Given the description of an element on the screen output the (x, y) to click on. 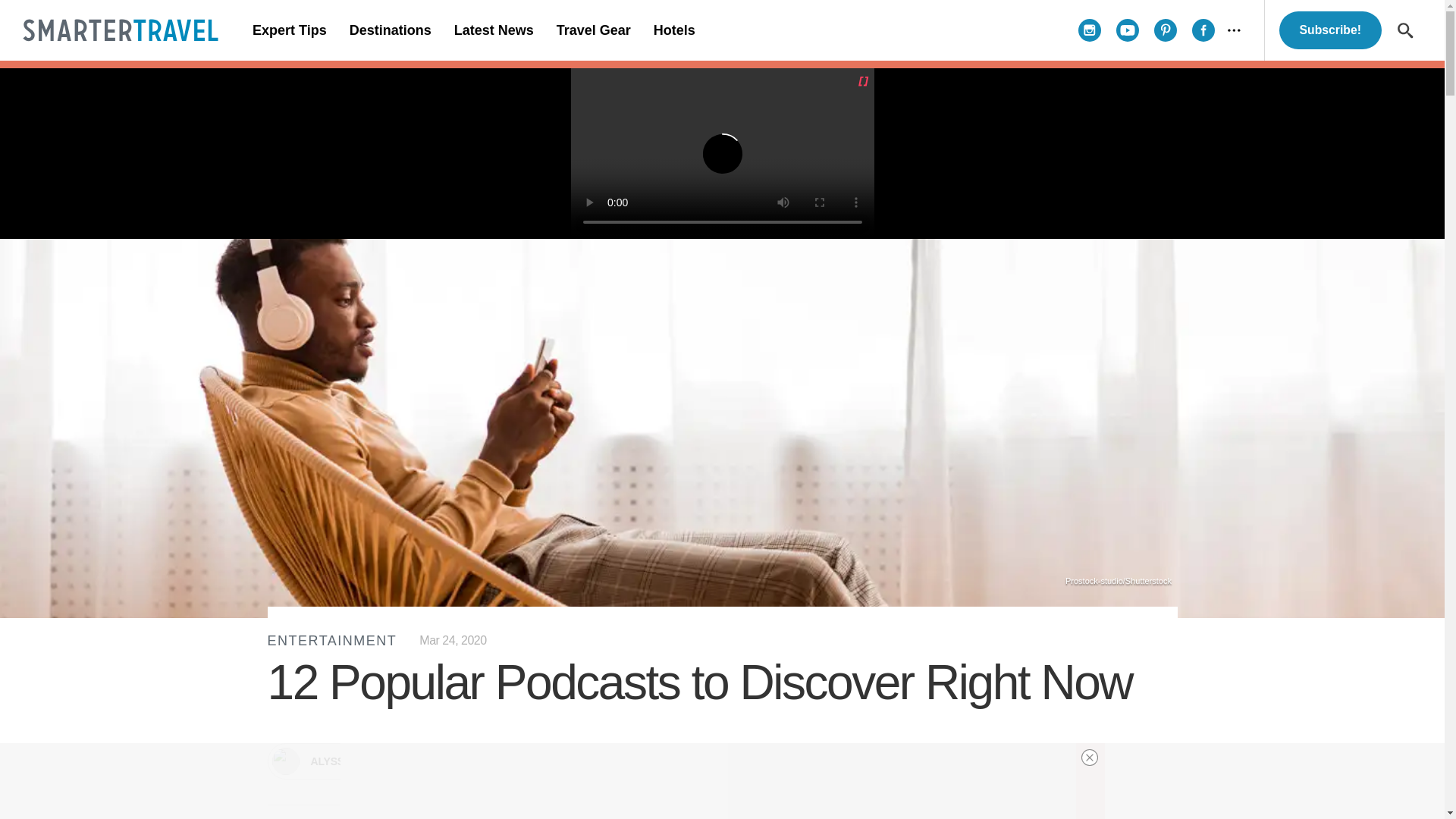
Latest News (493, 30)
Destinations (389, 30)
Hotels (674, 30)
Subscribe! (1330, 30)
3rd party ad content (707, 780)
Expert Tips (289, 30)
Travel Gear (593, 30)
